Given the description of an element on the screen output the (x, y) to click on. 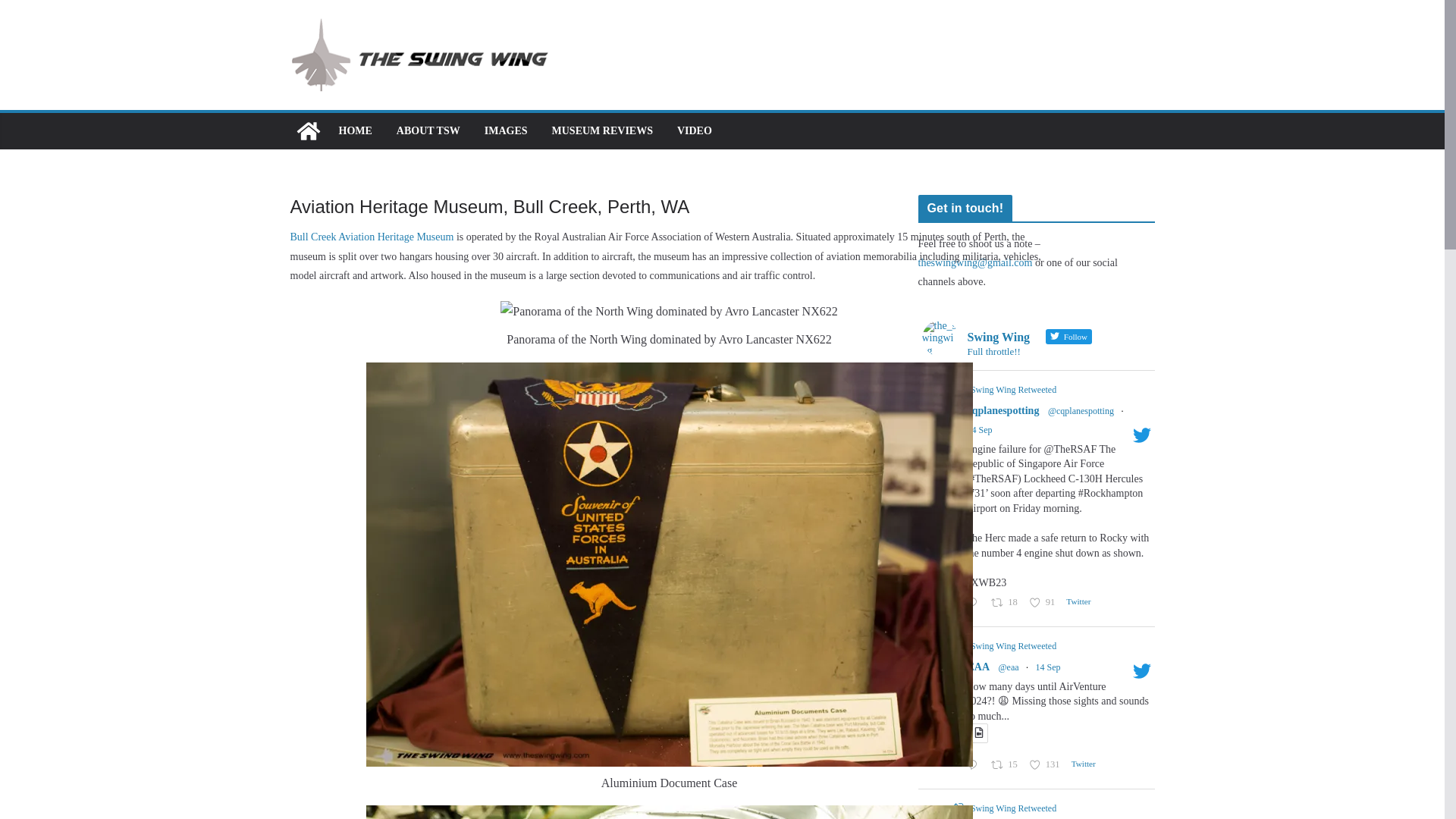
ABOUT TSW (428, 130)
Swing Wing Retweeted (1014, 389)
Retweet on Twitter (958, 388)
Twitter 1702412213464494328 (1046, 766)
EAA (1086, 763)
Swing Wing Retweeted (979, 666)
Twitter 1702471586954330305 (1014, 808)
Retweet on Twitter (1081, 601)
